Given the description of an element on the screen output the (x, y) to click on. 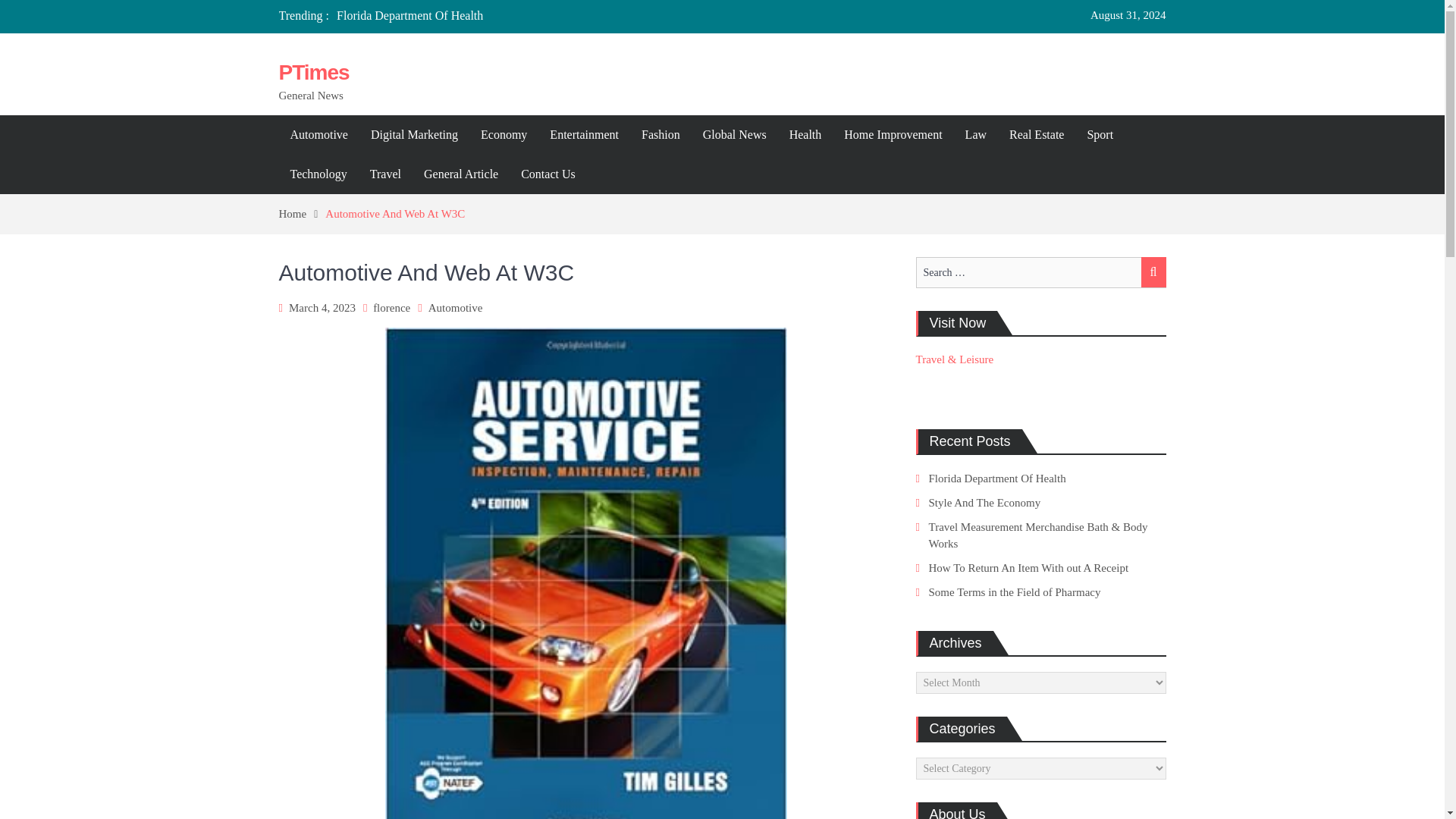
PTimes (314, 72)
Home (302, 214)
Real Estate (1036, 134)
Contact Us (547, 174)
florence (391, 307)
Automotive (455, 307)
General Article (460, 174)
Digital Marketing (413, 134)
Florida Department Of Health (409, 15)
Travel (385, 174)
